Given the description of an element on the screen output the (x, y) to click on. 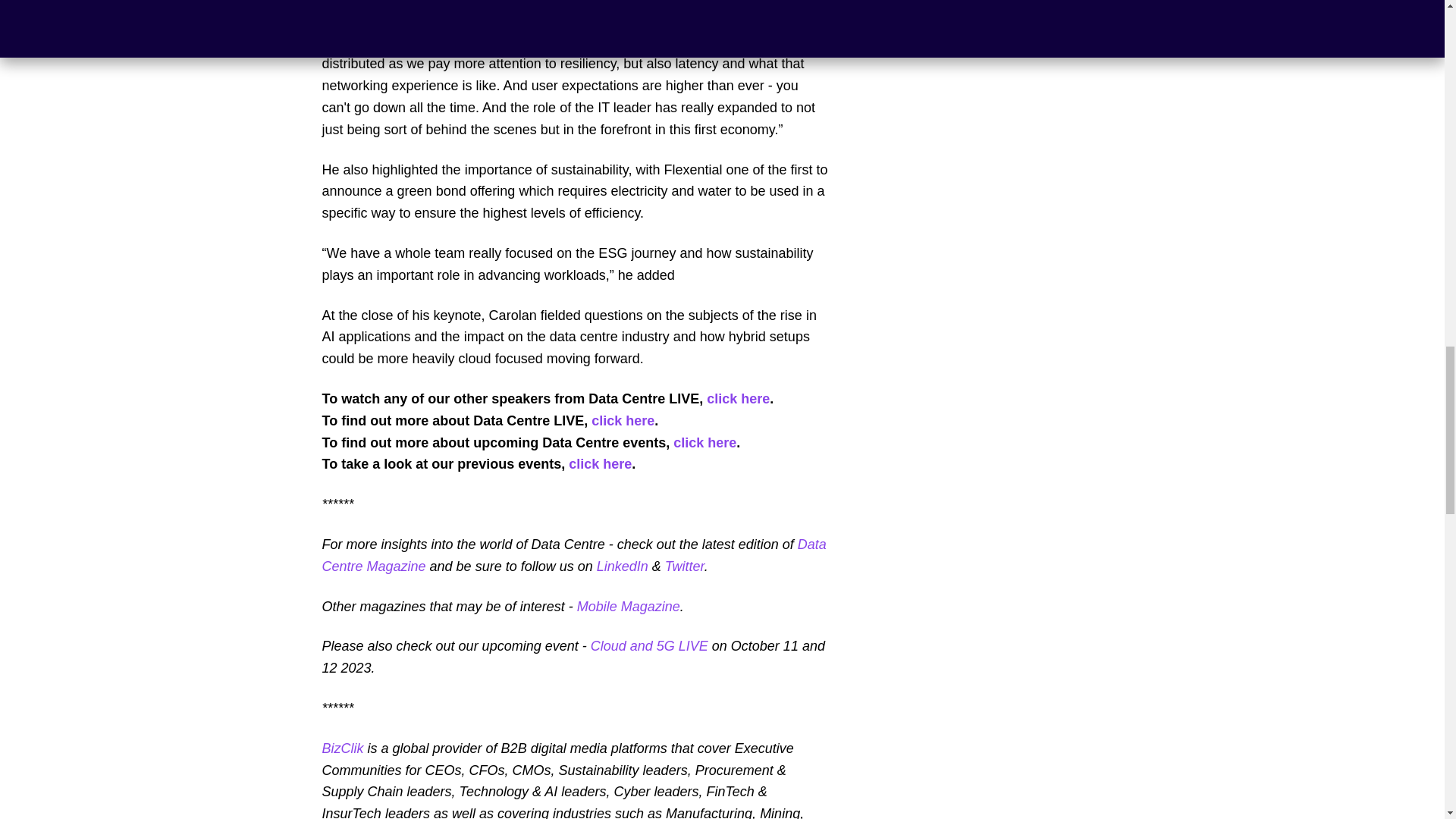
LinkedIn (621, 566)
Twitter (684, 566)
click here (600, 463)
Cloud and 5G LIVE (649, 645)
click here (704, 442)
click here (738, 398)
Mobile Magazine (627, 606)
click here (622, 420)
Data Centre Magazine (573, 555)
BizClik (341, 748)
